Given the description of an element on the screen output the (x, y) to click on. 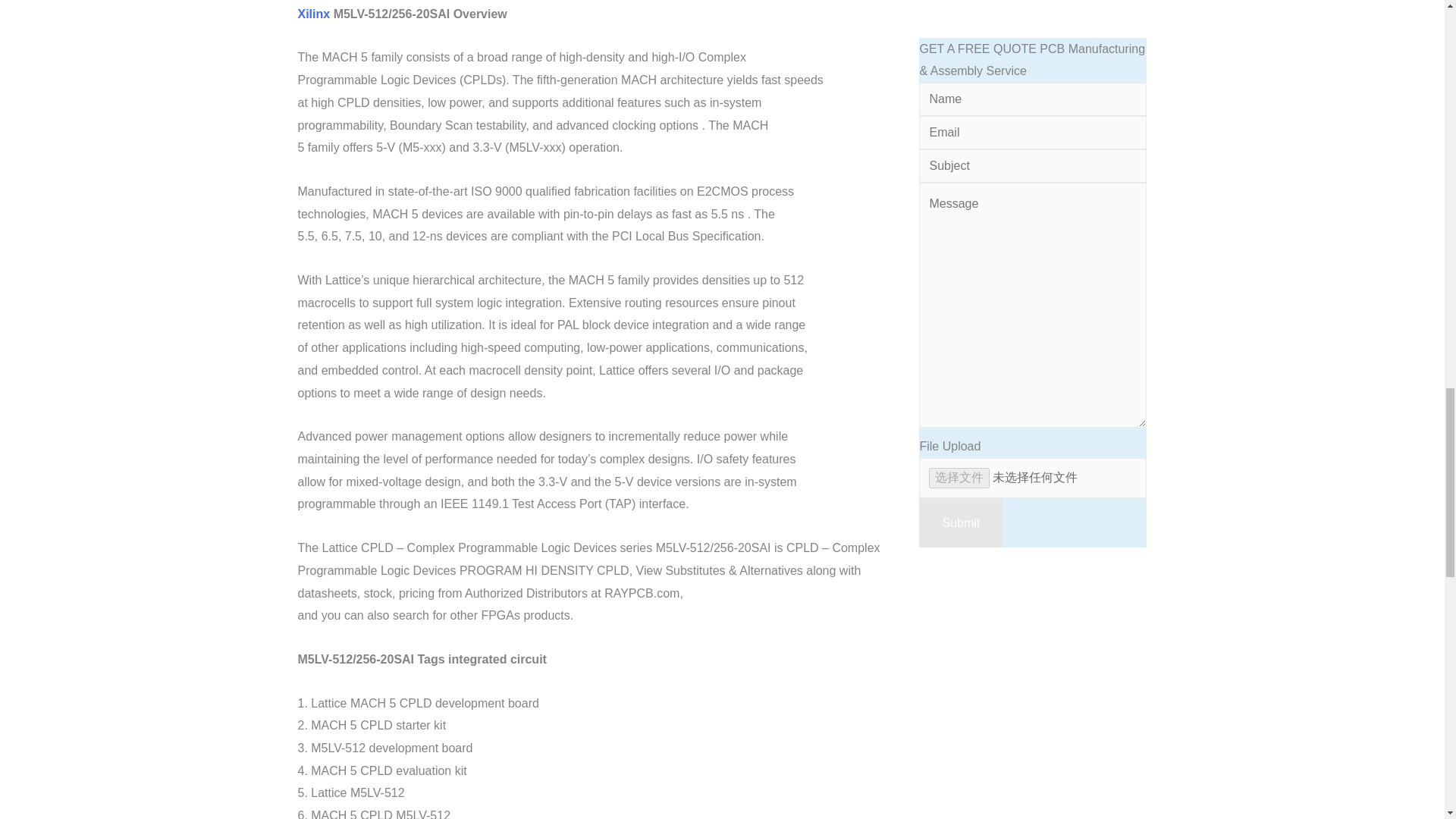
Xilinx (313, 13)
